Given the description of an element on the screen output the (x, y) to click on. 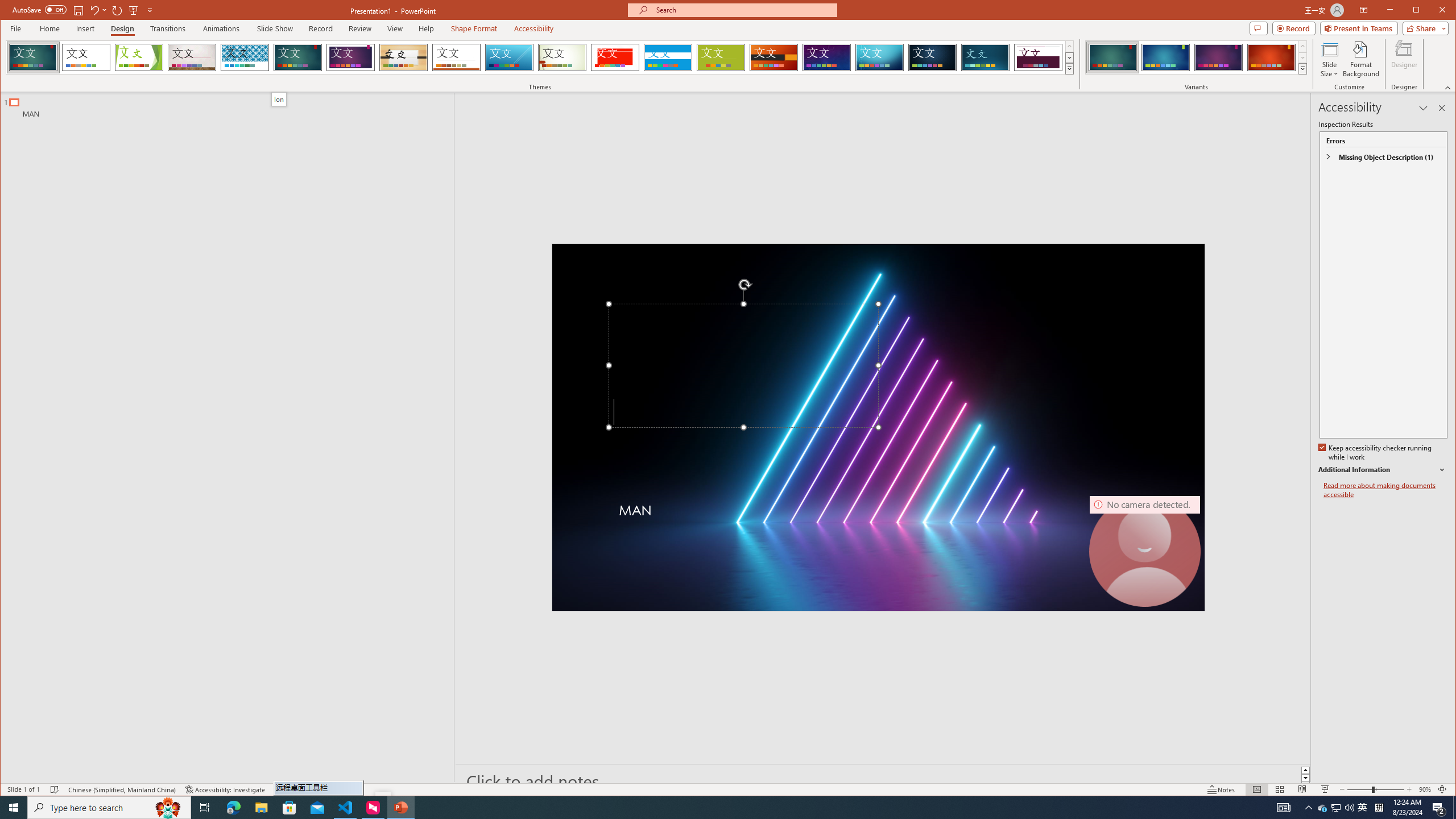
Review (360, 28)
Class: MsoCommandBar (728, 789)
Dividend (1037, 57)
Present in Teams (1358, 28)
Notification Chevron (1308, 807)
Insert (85, 28)
Circuit (1335, 807)
Spell Check No Errors (879, 57)
Berlin (55, 789)
Slide Sorter (773, 57)
Line up (1279, 789)
Damask (1305, 769)
Celestial (932, 57)
Row up (826, 57)
